Given the description of an element on the screen output the (x, y) to click on. 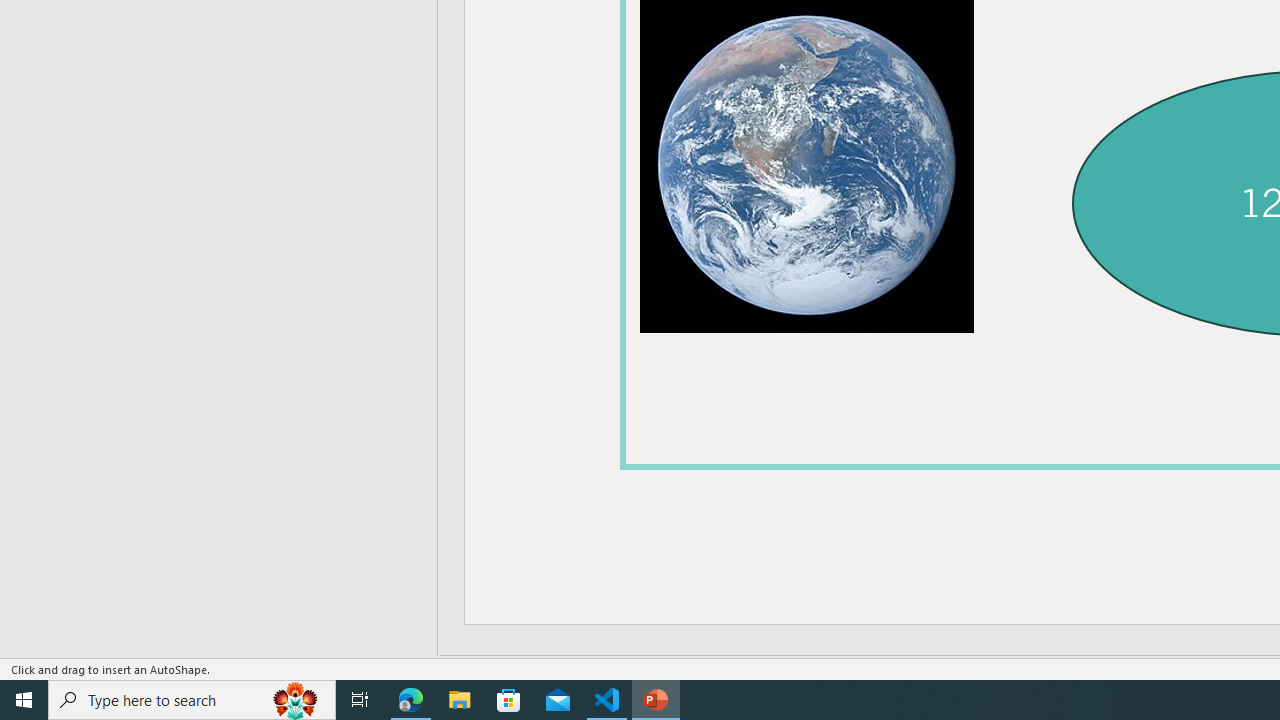
Microsoft Store (509, 699)
PowerPoint - 1 running window (656, 699)
File Explorer (460, 699)
Task View (359, 699)
Search highlights icon opens search home window (295, 699)
Visual Studio Code - 1 running window (607, 699)
Start (24, 699)
Microsoft Edge - 1 running window (411, 699)
Type here to search (191, 699)
